Given the description of an element on the screen output the (x, y) to click on. 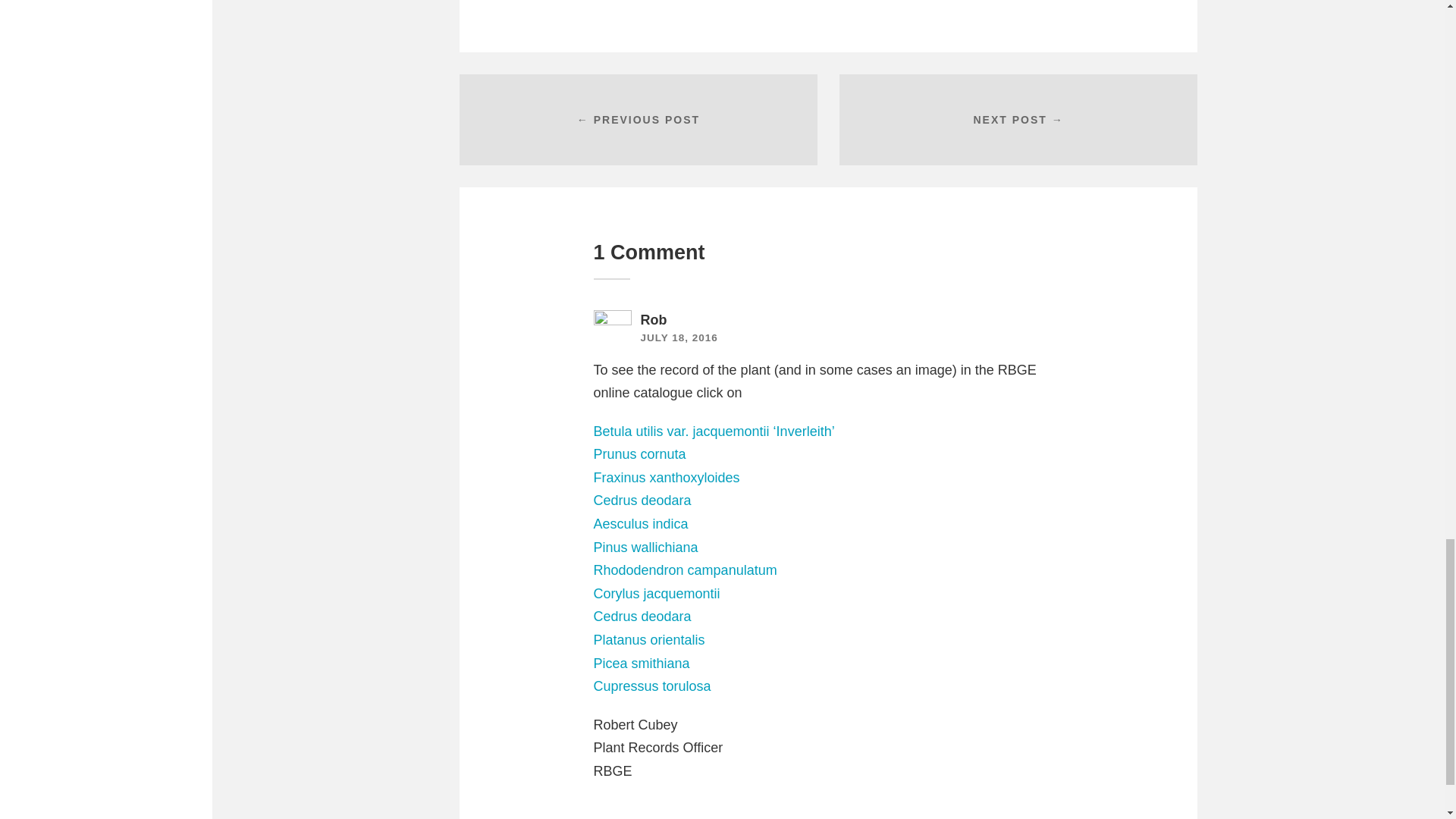
Next post: Schistidium caps an old wooden fence (1018, 119)
JULY 18, 2016 (678, 337)
